Given the description of an element on the screen output the (x, y) to click on. 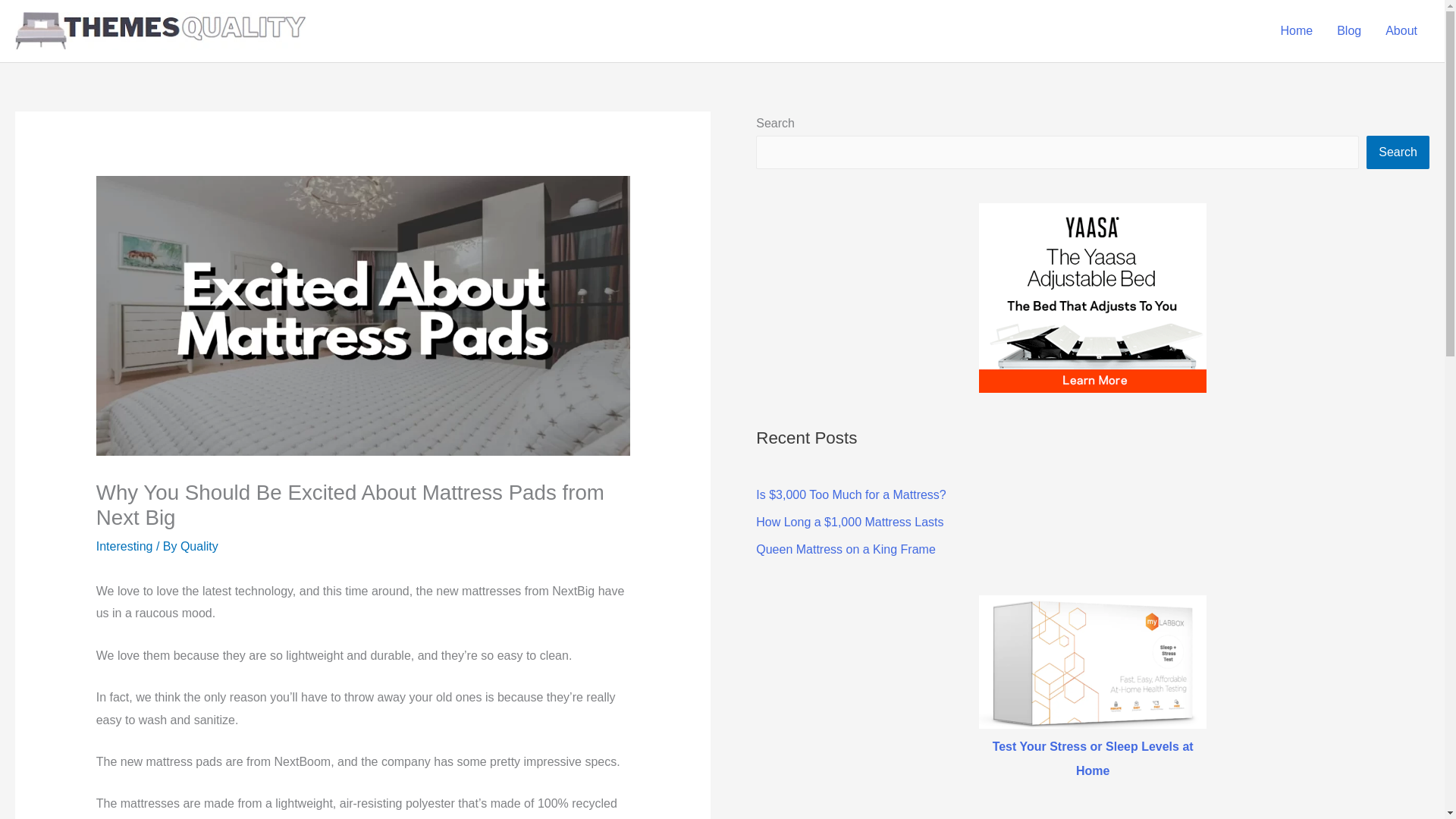
Blog (1348, 30)
Home (1296, 30)
About (1401, 30)
Search (1398, 151)
View all posts by Quality (199, 545)
Queen Mattress on a King Frame (845, 549)
Interesting (124, 545)
Quality (199, 545)
Test Your Stress or Sleep Levels at Home (1092, 758)
